Given the description of an element on the screen output the (x, y) to click on. 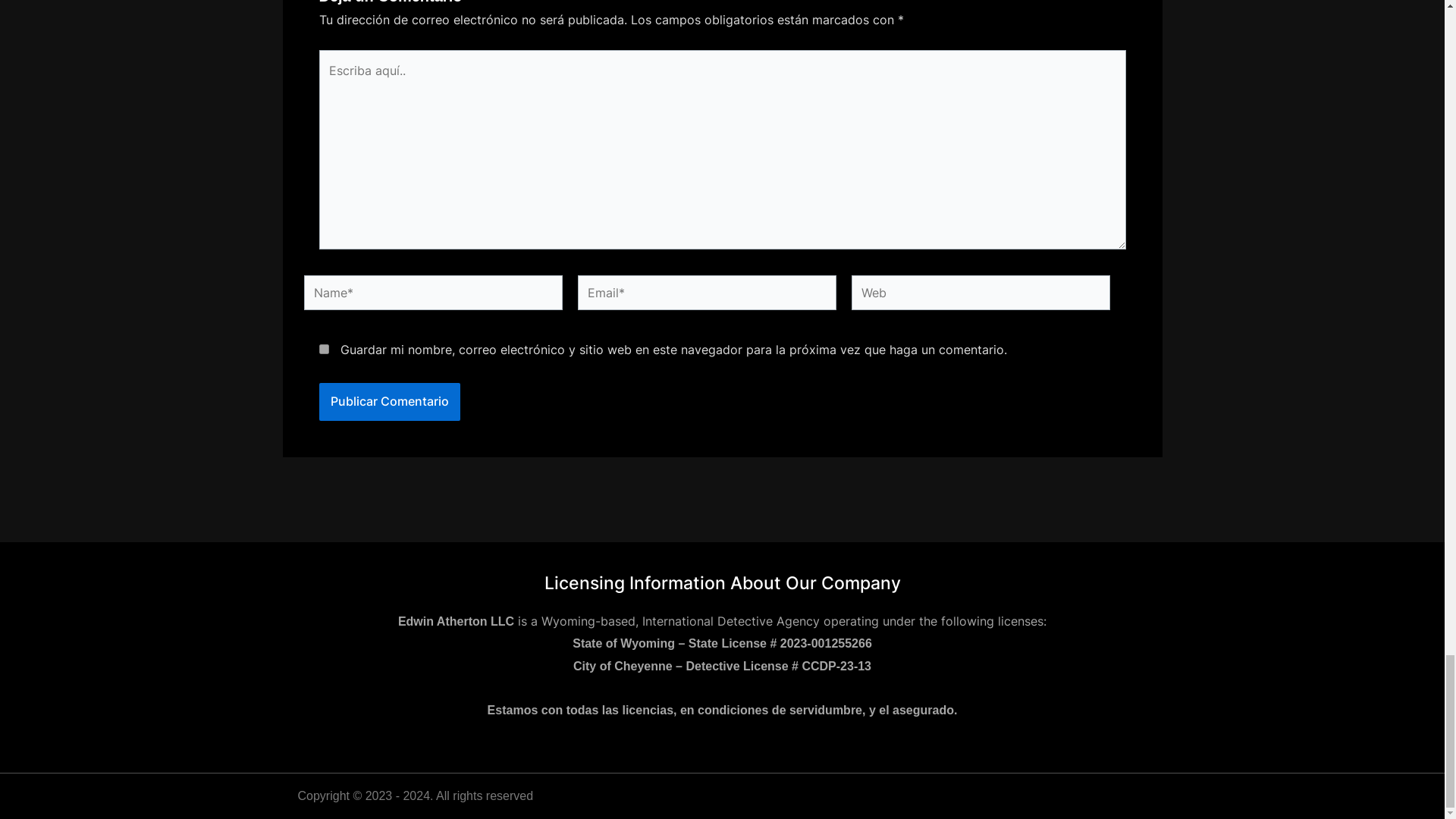
yes (323, 348)
Publicar Comentario (389, 401)
Publicar Comentario (389, 401)
